Given the description of an element on the screen output the (x, y) to click on. 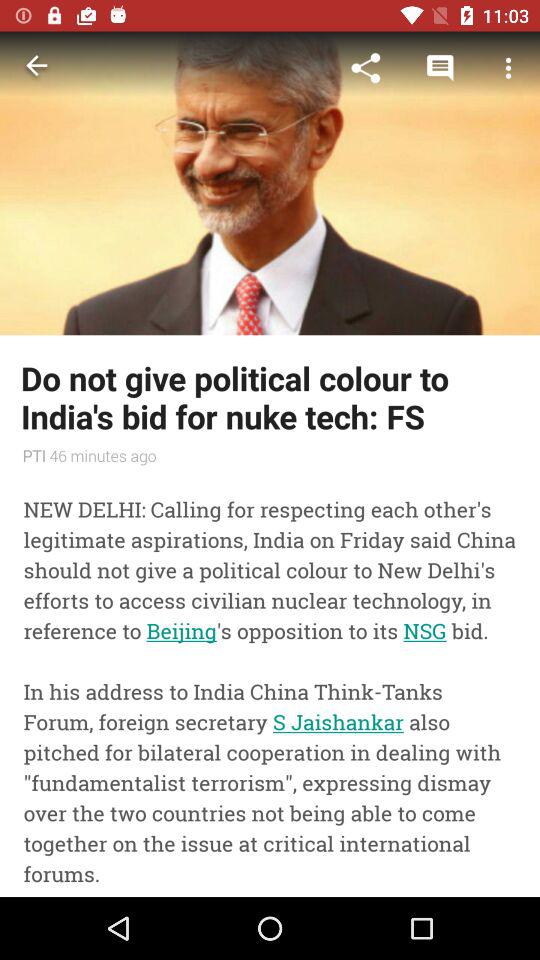
select the item above do not give icon (508, 67)
